Given the description of an element on the screen output the (x, y) to click on. 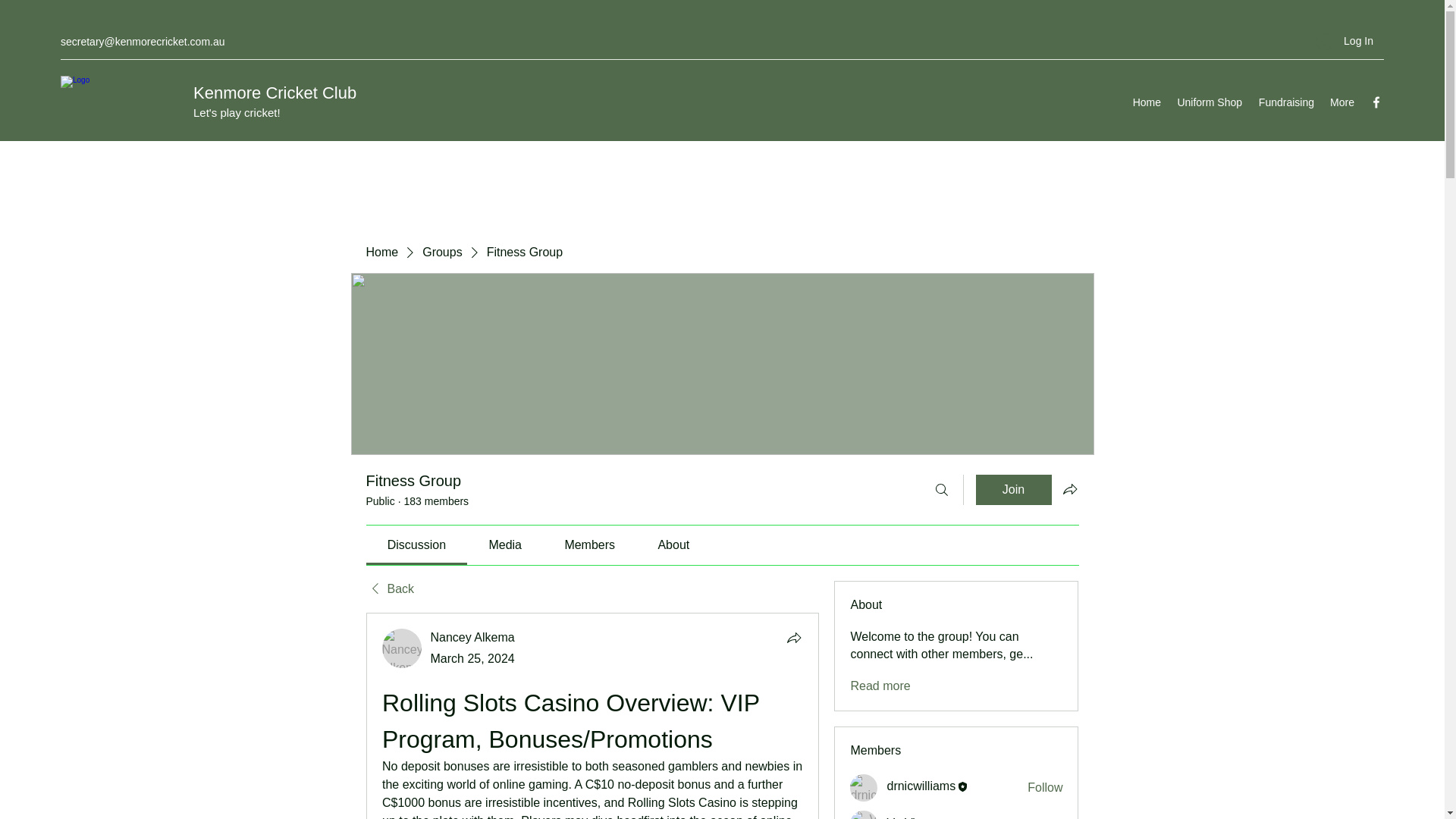
Vu Vincent (863, 814)
Read more (880, 686)
Uniform Shop (1209, 101)
March 25, 2024 (472, 658)
drnicwilliams (863, 787)
Log In (1345, 41)
Follow (1044, 817)
Join (1013, 490)
Home (1146, 101)
Home (381, 252)
